Given the description of an element on the screen output the (x, y) to click on. 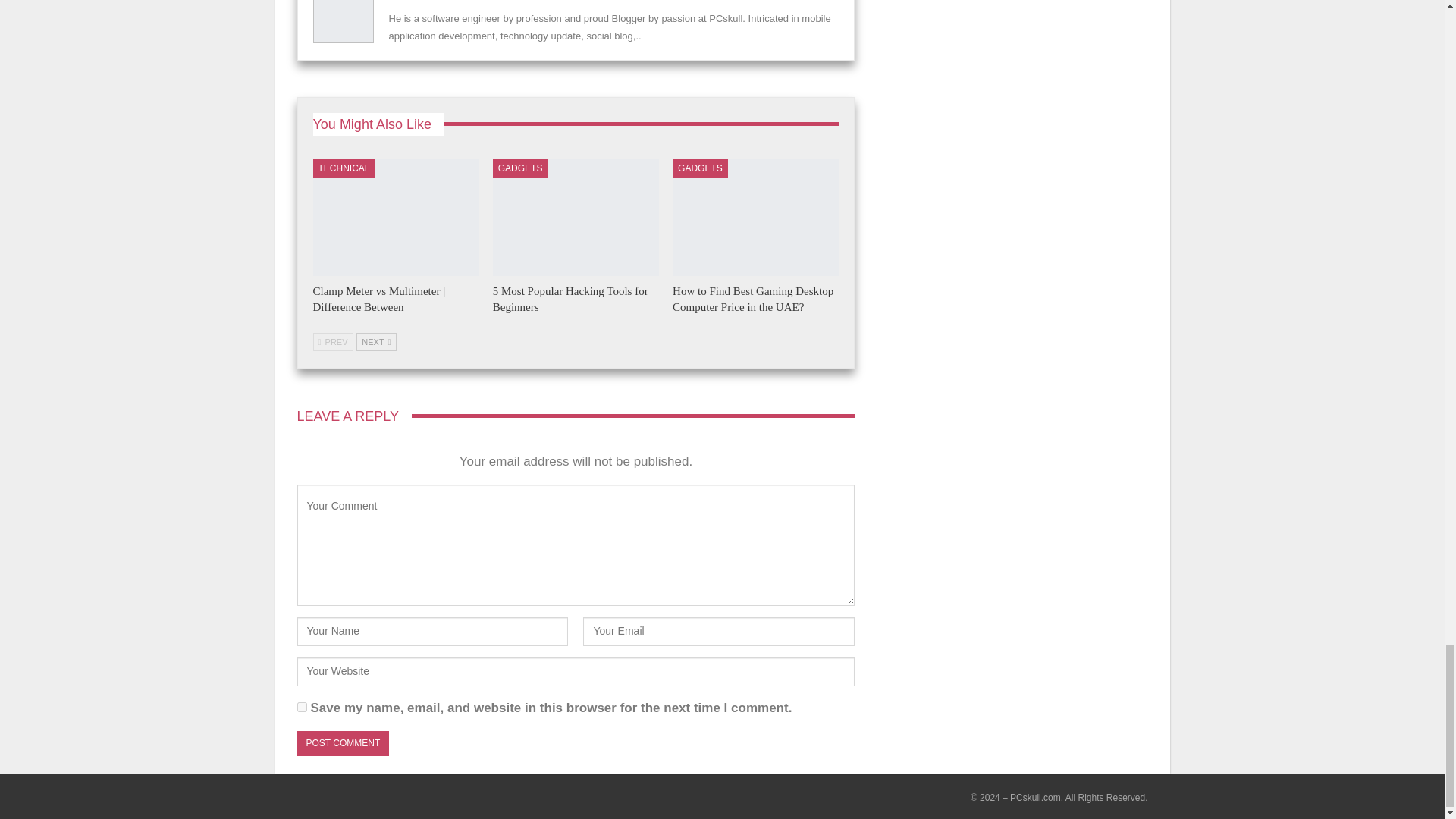
How to Find Best Gaming Desktop Computer Price in the UAE? (752, 298)
yes (302, 706)
Post Comment (343, 743)
How to Find Best Gaming Desktop Computer Price in the UAE? (755, 216)
5 Most Popular Hacking Tools for Beginners (570, 298)
5 Most Popular Hacking Tools for Beginners (576, 216)
